Given the description of an element on the screen output the (x, y) to click on. 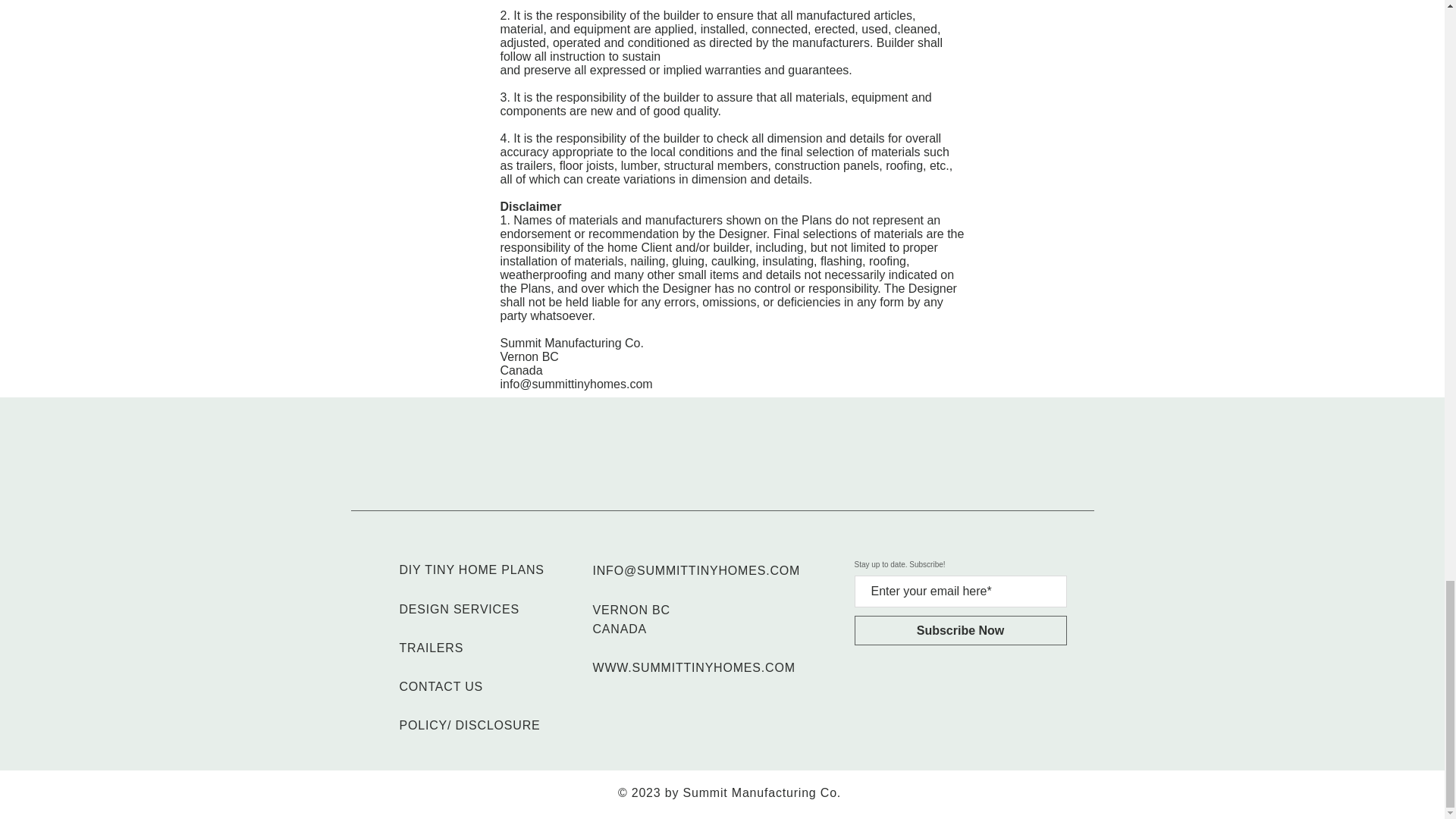
DESIGN SERVICES (458, 608)
CONTACT US (440, 686)
WWW.SUMMITTINYHOMES.COM (693, 667)
TRAILERS (430, 647)
DIY TINY HOME PLANS (470, 569)
Subscribe Now (959, 630)
